Given the description of an element on the screen output the (x, y) to click on. 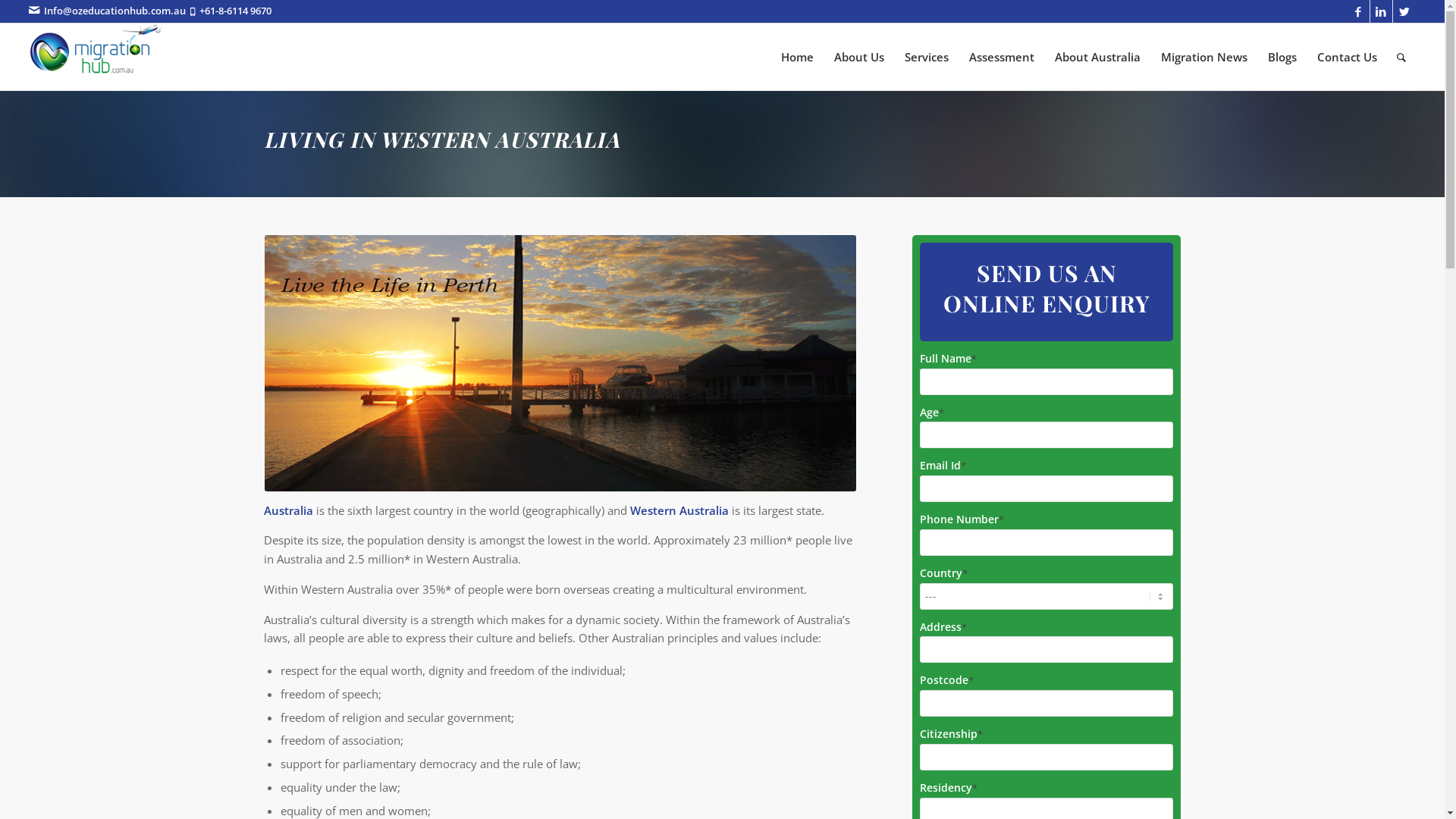
logo Element type: hover (96, 49)
Twitter Element type: hover (1404, 11)
Contact Us Element type: text (1346, 56)
Assessment Element type: text (1001, 56)
Facebook Element type: hover (1358, 11)
Blogs Element type: text (1281, 56)
LinkedIn Element type: hover (1381, 11)
wa Element type: hover (560, 363)
Home Element type: text (797, 56)
About Australia Element type: text (1097, 56)
Migration News Element type: text (1203, 56)
Services Element type: text (926, 56)
About Us Element type: text (858, 56)
+61-8-6114 9670 Element type: text (235, 10)
Info@ozeducationhub.com.au Element type: text (114, 10)
